Given the description of an element on the screen output the (x, y) to click on. 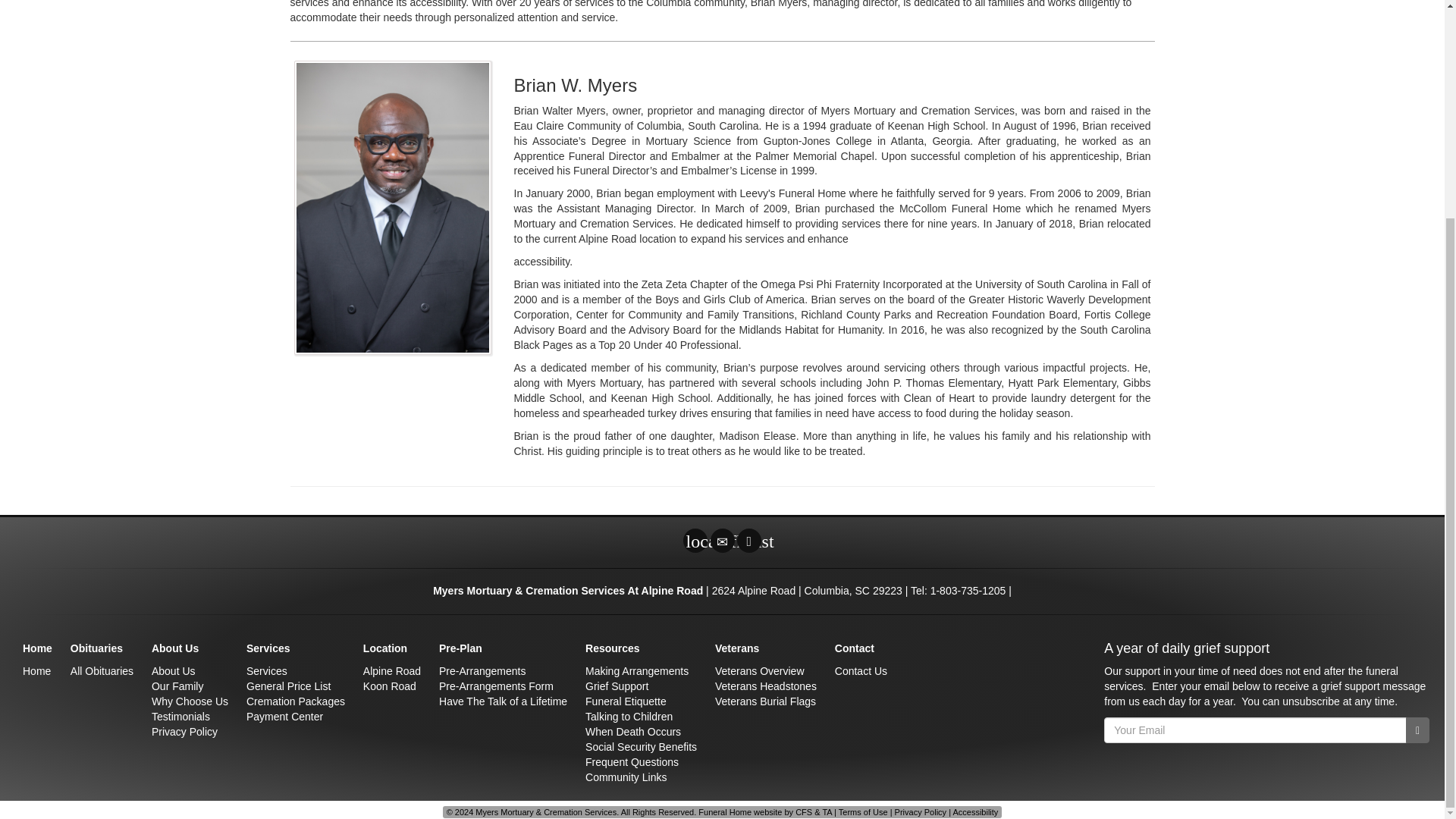
Contact Us (721, 540)
Directions (748, 540)
Send Flowers (694, 540)
